Given the description of an element on the screen output the (x, y) to click on. 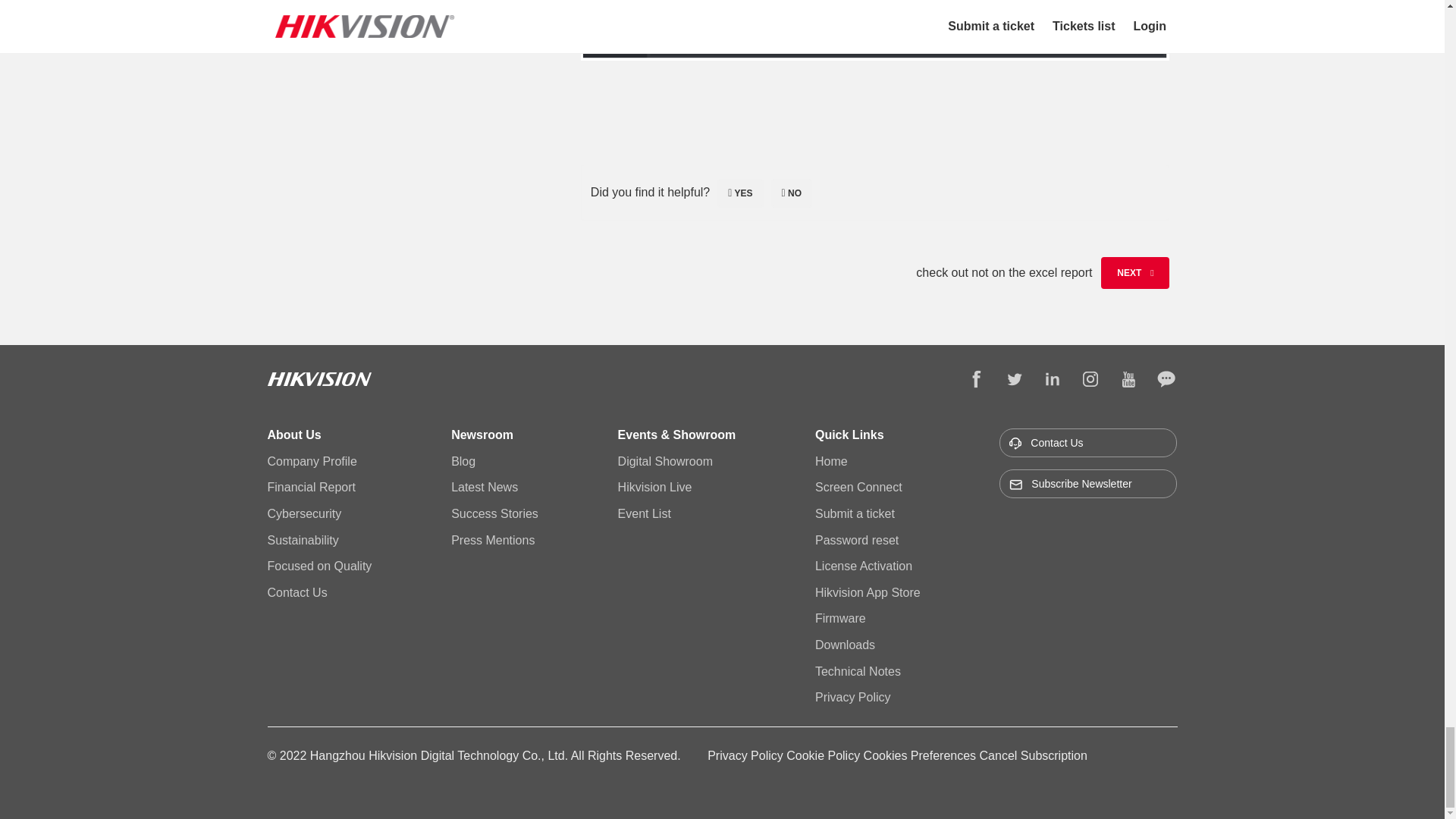
manage cookie preferences (921, 755)
cancel subscription (1033, 755)
Privacy Policy (746, 755)
Cookie Policy (824, 755)
